Given the description of an element on the screen output the (x, y) to click on. 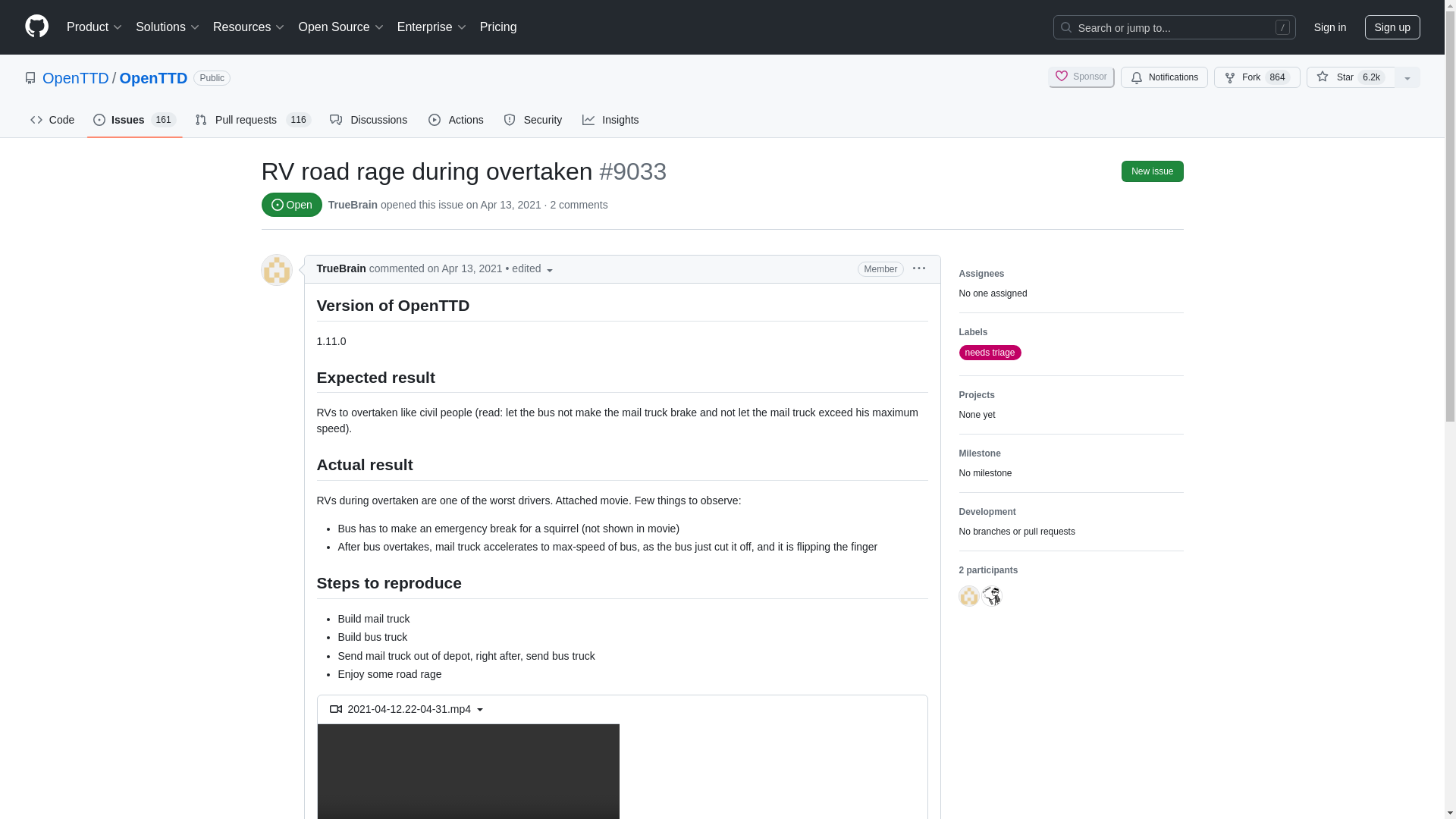
Product (95, 27)
864 (1277, 77)
Status: Open (290, 204)
Resources (249, 27)
Solutions (167, 27)
6,162 (1371, 77)
161 (163, 119)
Open Source (341, 27)
